Given the description of an element on the screen output the (x, y) to click on. 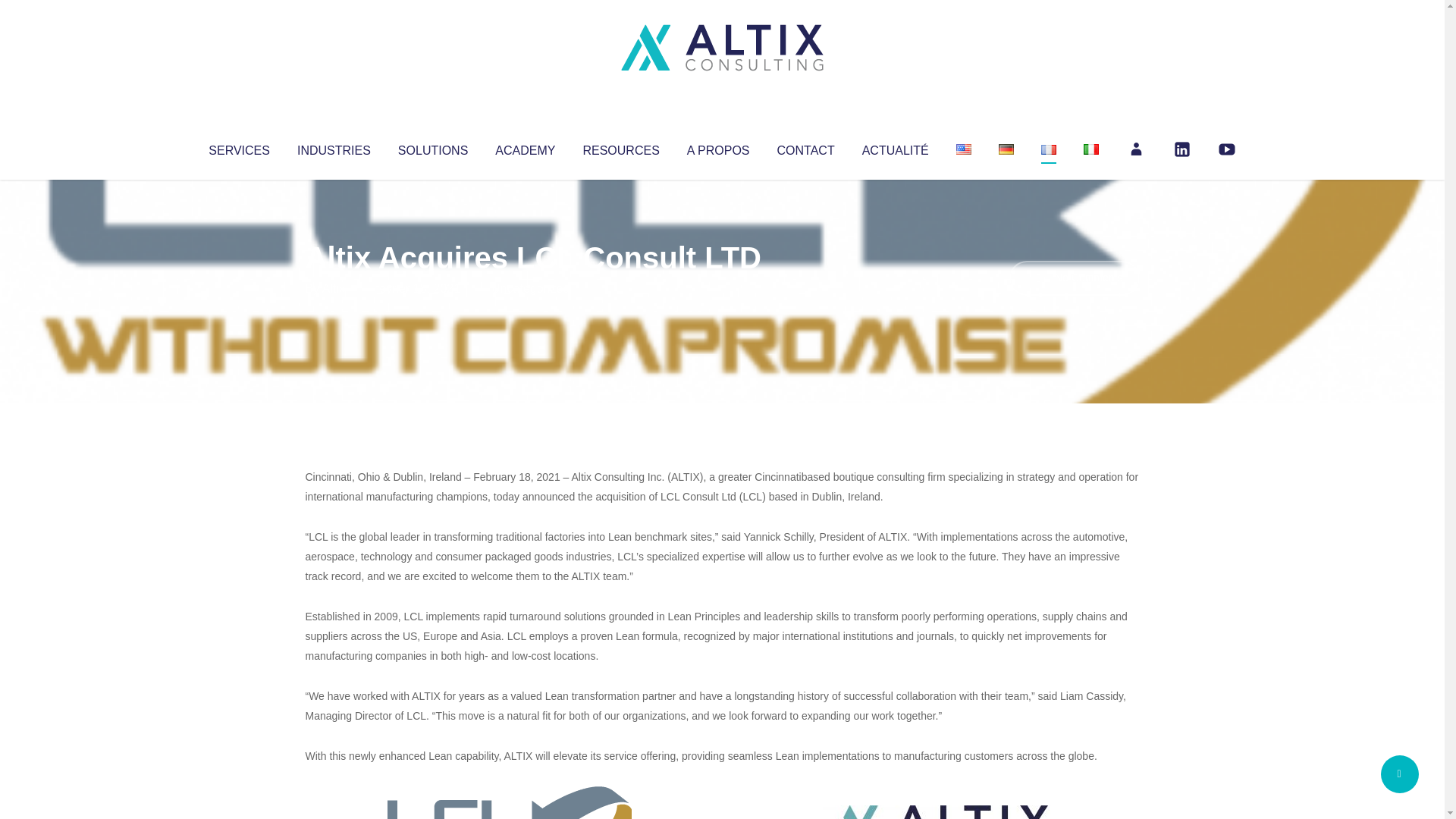
SERVICES (238, 146)
No Comments (1073, 278)
Uncategorized (530, 287)
RESOURCES (620, 146)
SOLUTIONS (432, 146)
INDUSTRIES (334, 146)
Articles par Altix (333, 287)
Altix (333, 287)
A PROPOS (718, 146)
ACADEMY (524, 146)
